Given the description of an element on the screen output the (x, y) to click on. 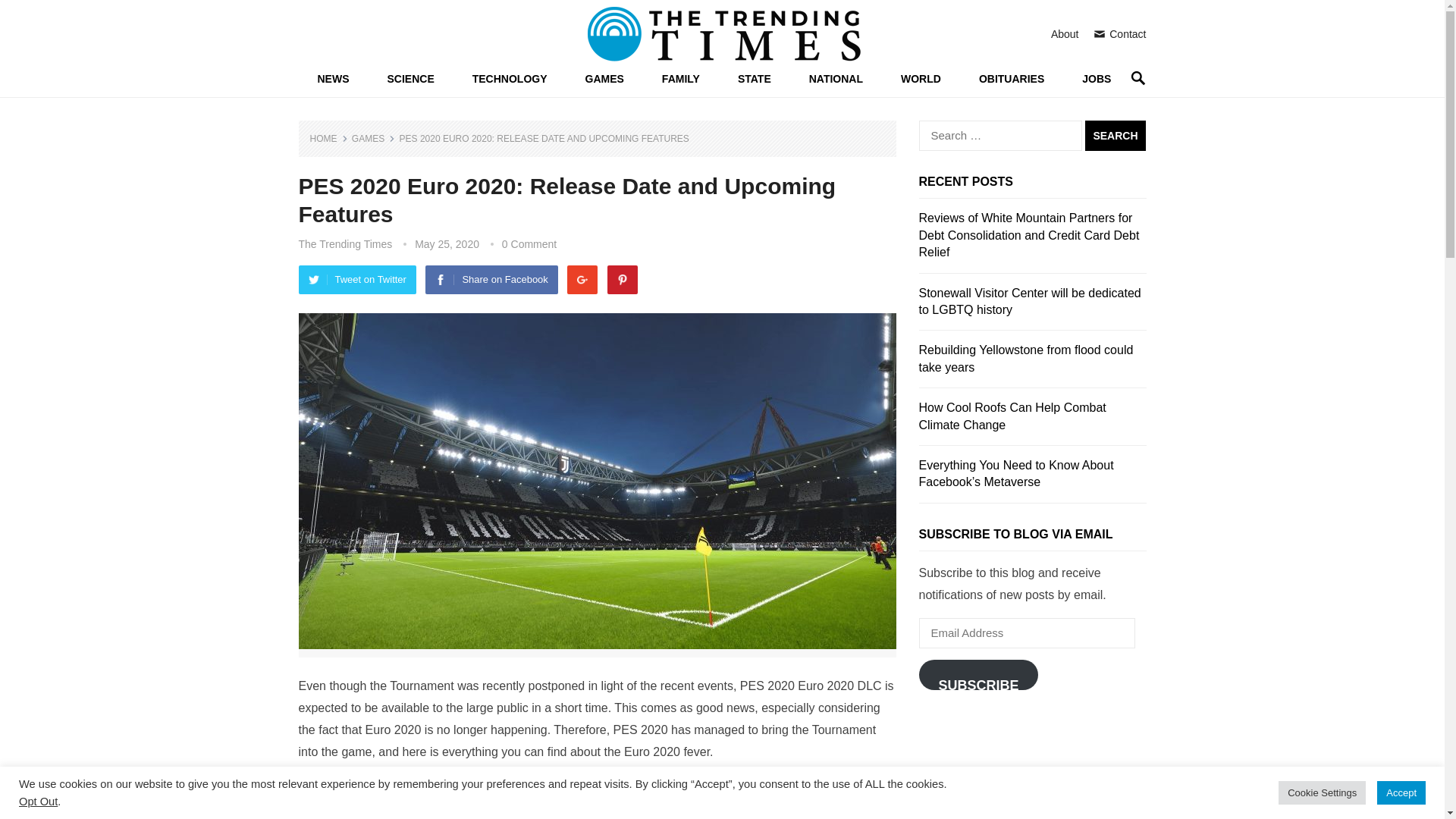
TECHNOLOGY (509, 78)
SCIENCE (410, 78)
Share on Facebook (491, 279)
About (1064, 33)
0 Comment (529, 244)
GAMES (373, 138)
View all posts in Games (373, 138)
The Trending Times (345, 244)
Pinterest (622, 279)
NEWS (333, 78)
Contact (1119, 33)
NATIONAL (836, 78)
JOBS (1095, 78)
FAMILY (681, 78)
GAMES (604, 78)
